Given the description of an element on the screen output the (x, y) to click on. 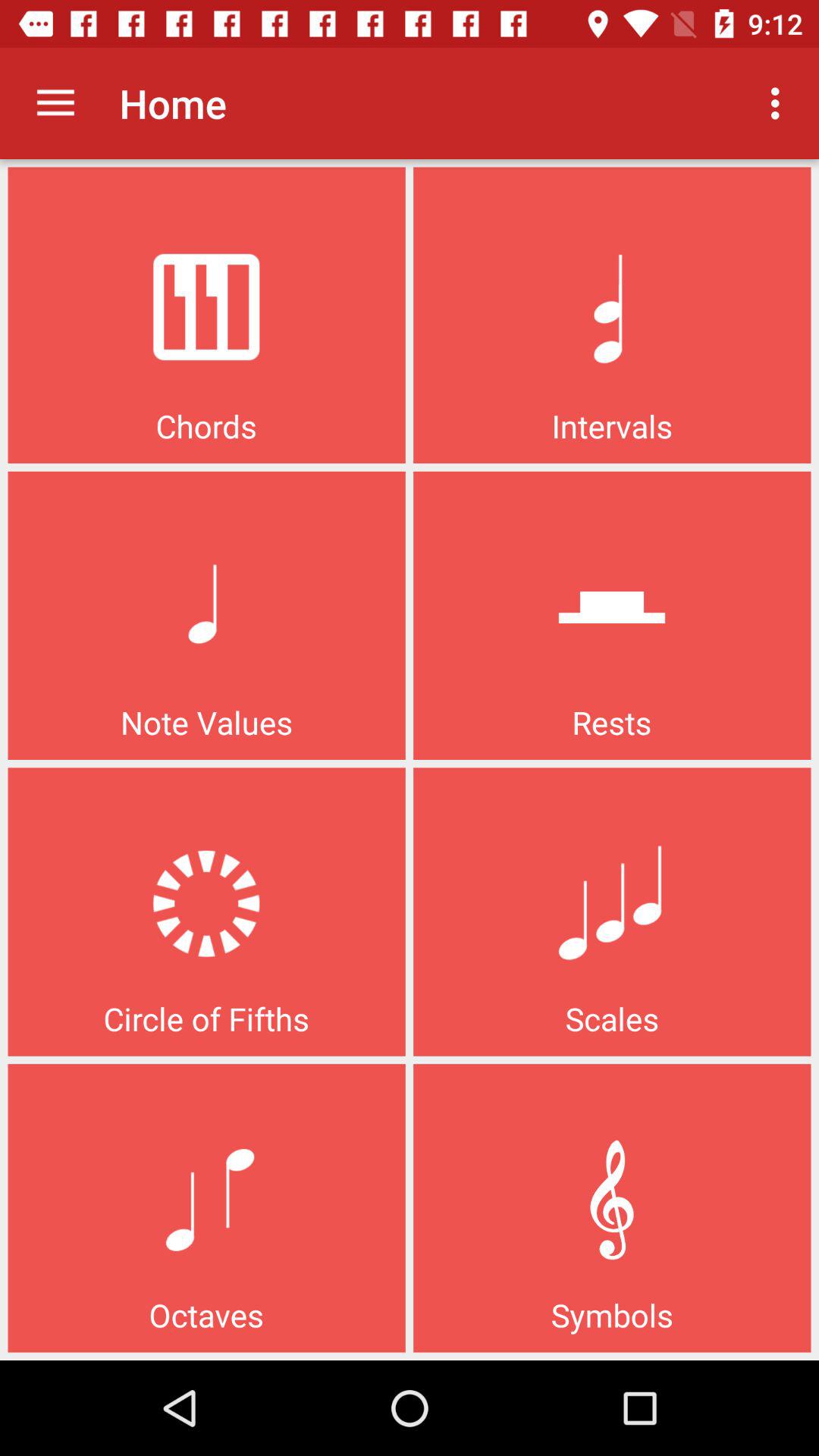
open the icon above the circle of fifths item (55, 103)
